Given the description of an element on the screen output the (x, y) to click on. 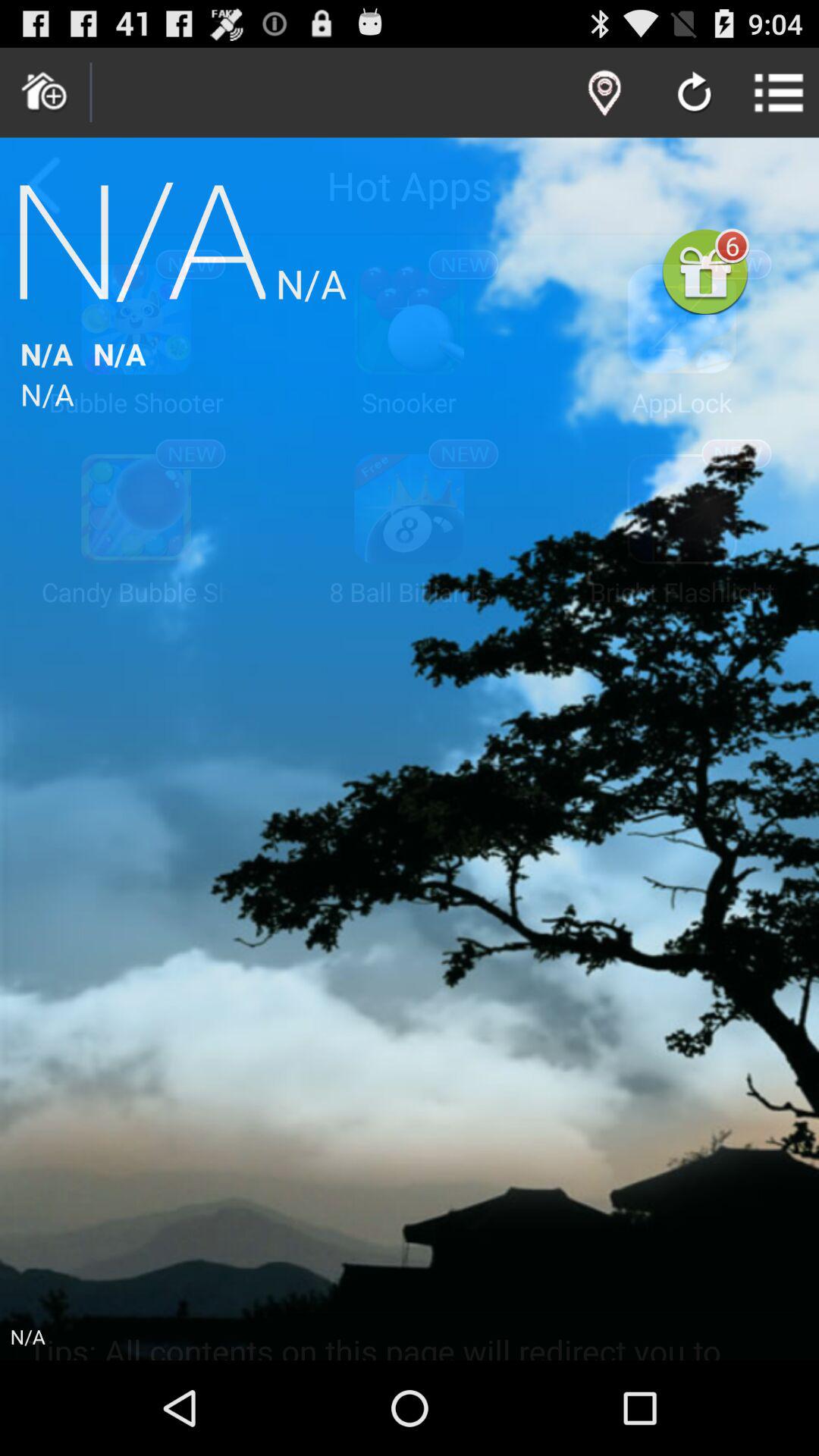
tap the item above 6 app (694, 94)
